Given the description of an element on the screen output the (x, y) to click on. 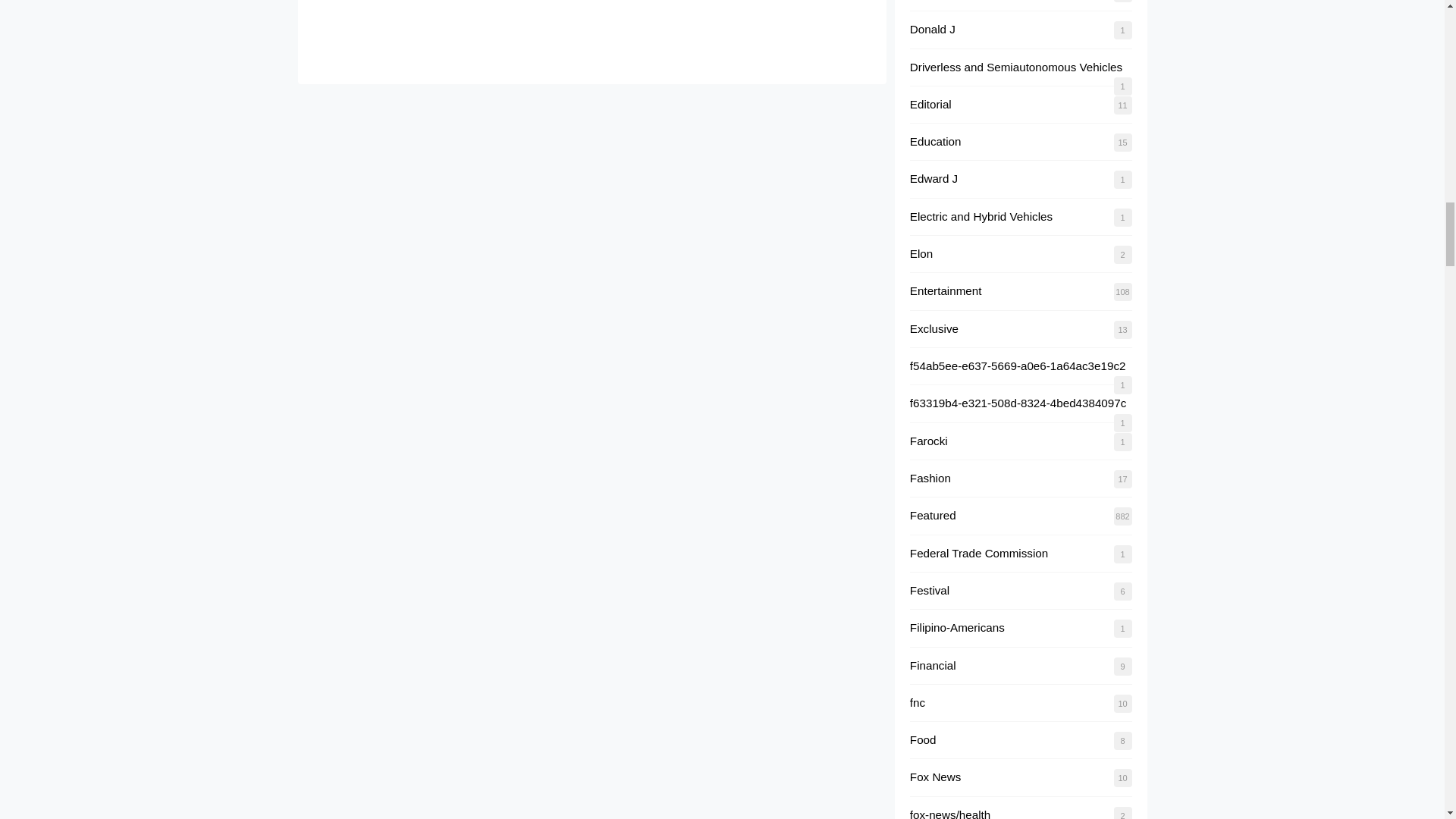
Comment Form (591, 31)
